Given the description of an element on the screen output the (x, y) to click on. 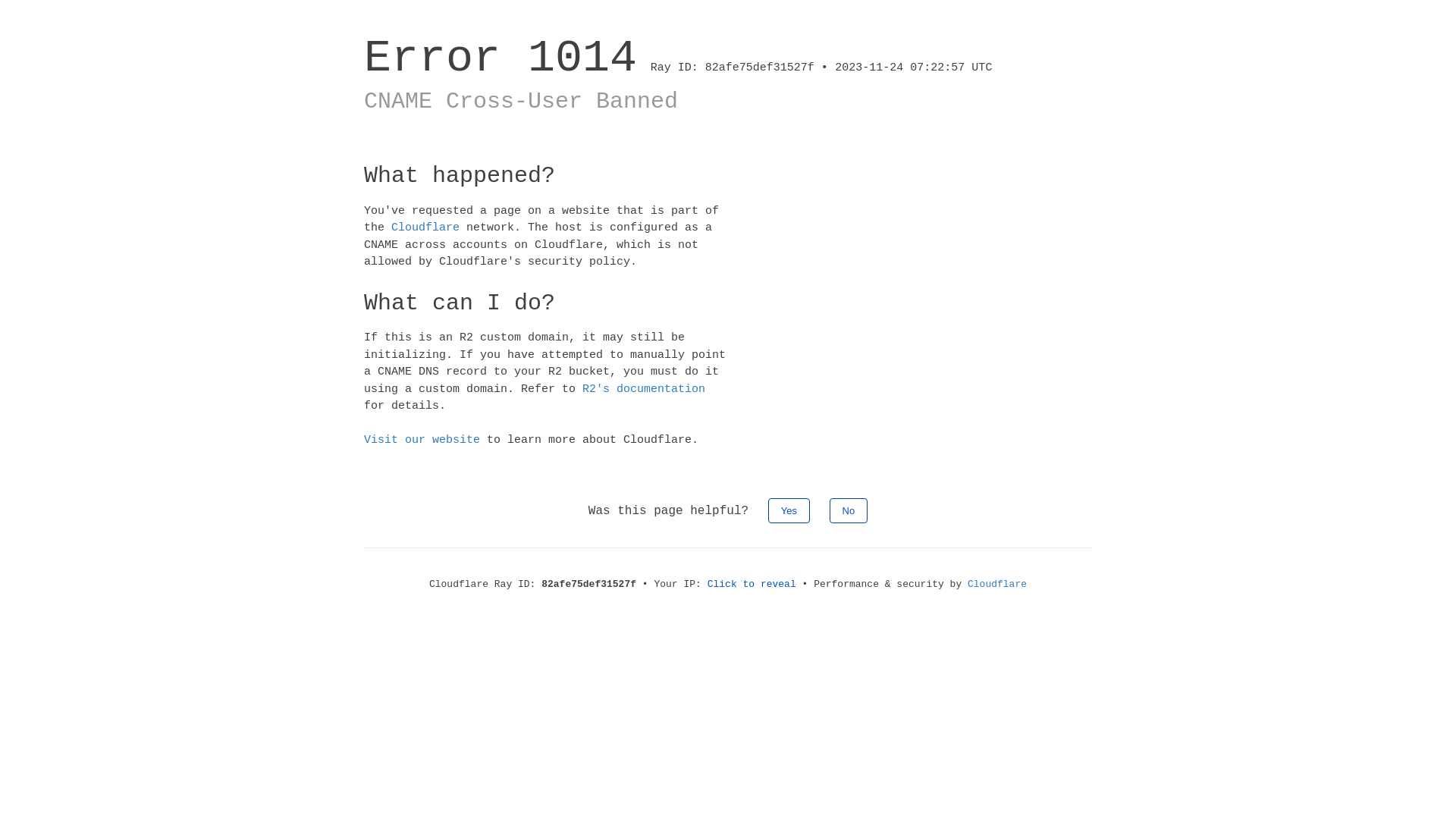
Cloudflare Element type: text (425, 227)
Visit our website Element type: text (422, 439)
R2's documentation Element type: text (643, 388)
Cloudflare Element type: text (996, 583)
Click to reveal Element type: text (751, 583)
Yes Element type: text (788, 509)
No Element type: text (848, 509)
